Given the description of an element on the screen output the (x, y) to click on. 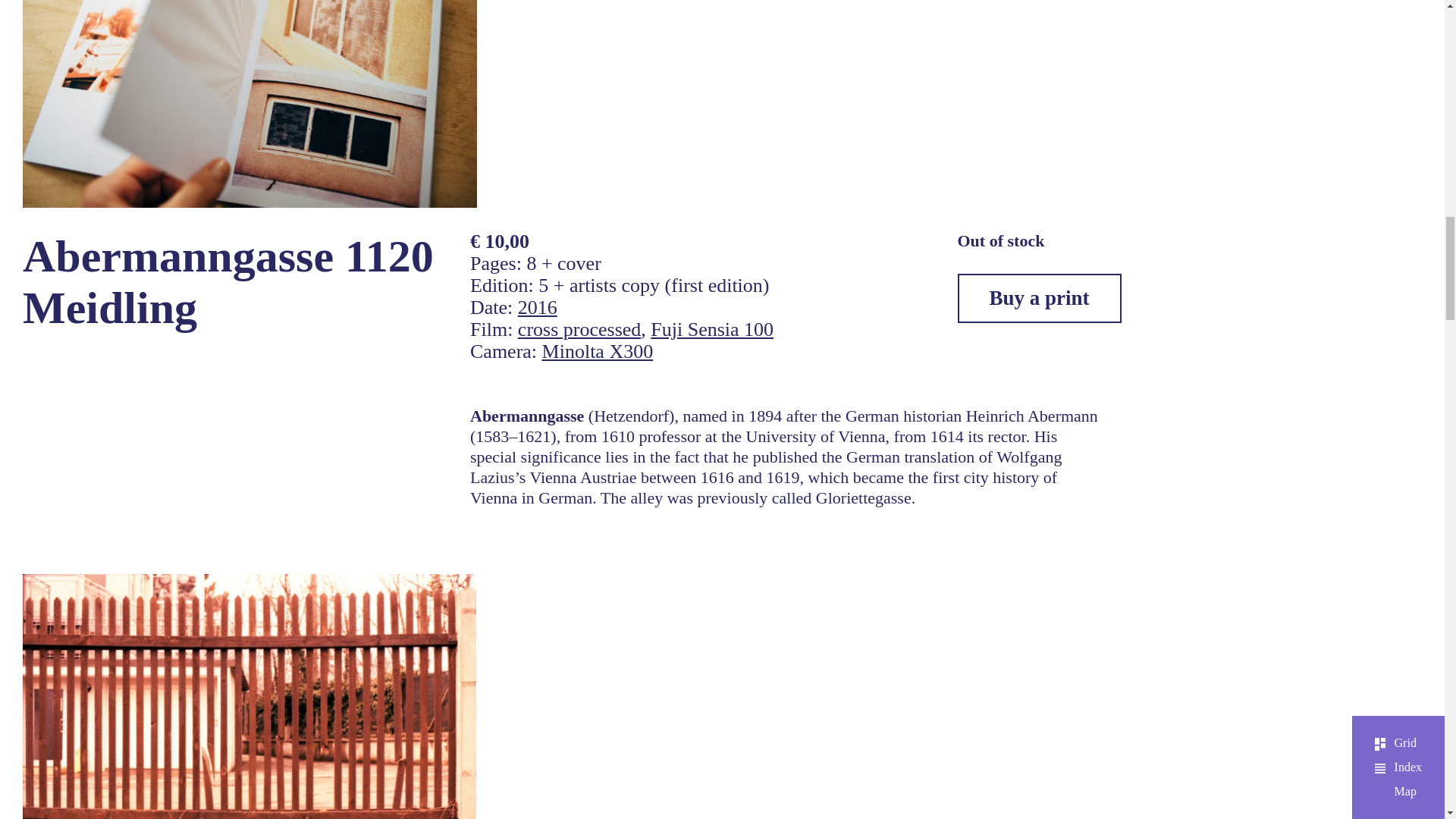
Minolta X300 (597, 351)
2016 (537, 307)
Fuji Sensia 100 (711, 329)
cross processed (579, 329)
Buy a print (1038, 297)
